Given the description of an element on the screen output the (x, y) to click on. 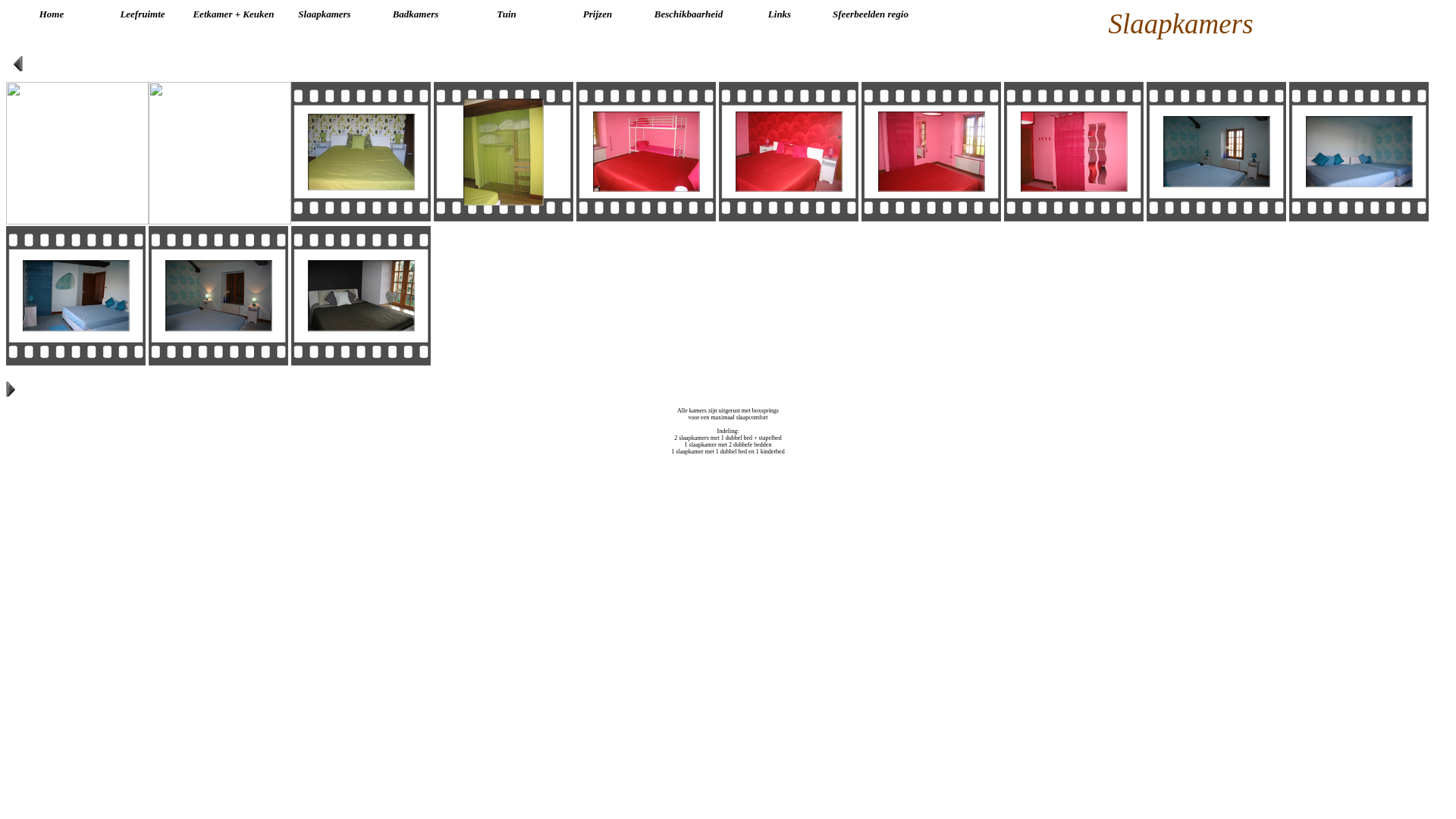
Badkamers Element type: text (415, 14)
Tuin Element type: text (506, 14)
Slaapkamers Element type: text (324, 14)
Leefruimte Element type: text (142, 14)
Beschikbaarheid Element type: text (688, 14)
Eetkamer + Keuken Element type: text (233, 14)
Sfeerbeelden regio Element type: text (870, 14)
Links Element type: text (779, 14)
Prijzen Element type: text (597, 14)
Home Element type: text (51, 14)
